Given the description of an element on the screen output the (x, y) to click on. 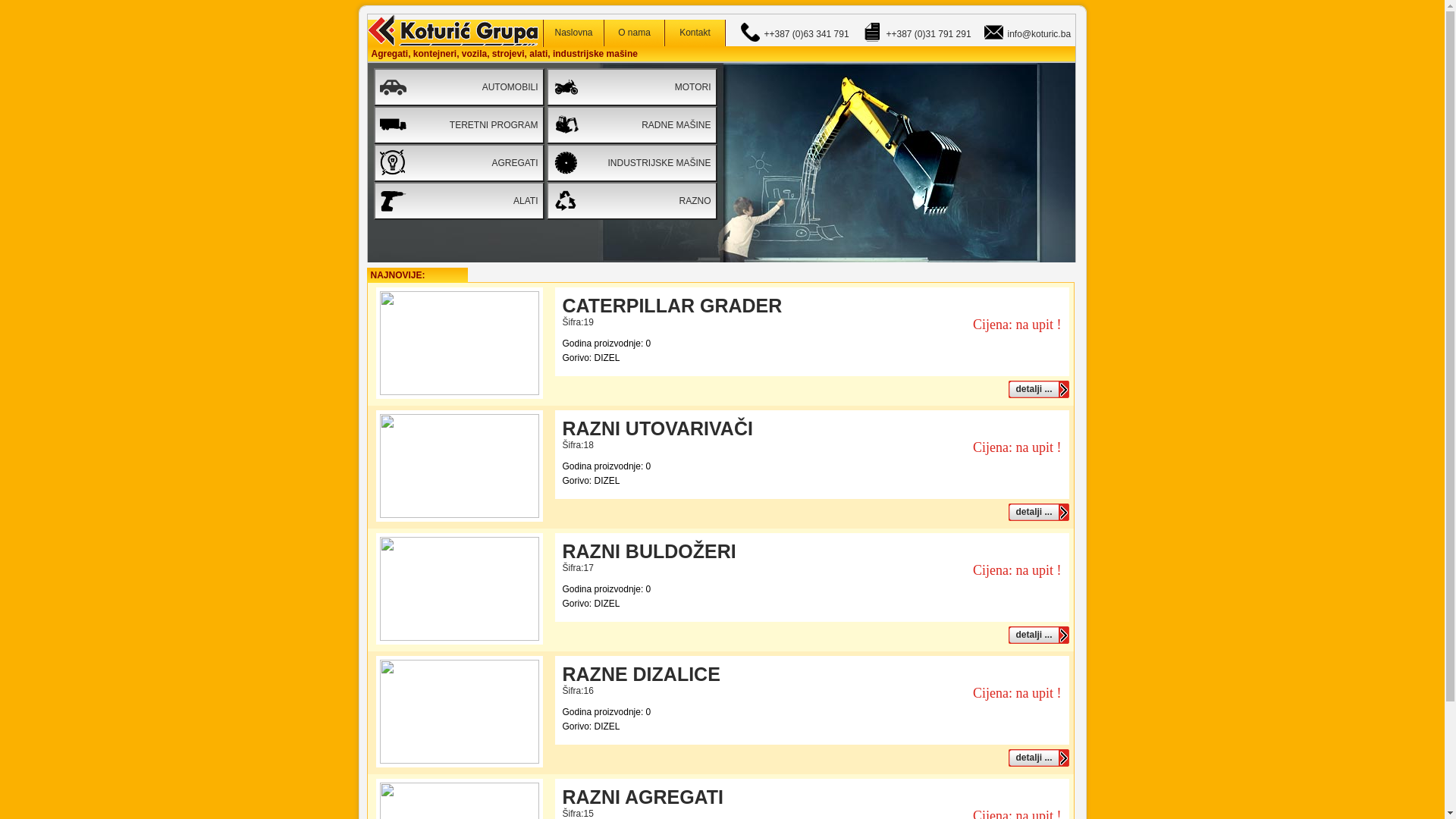
Kontakt Element type: text (694, 32)
AGREGATI Element type: text (458, 163)
detalji ... Element type: text (1038, 512)
RAZNO Element type: text (631, 200)
Naslovna Element type: text (572, 32)
TERETNI PROGRAM Element type: text (458, 125)
detalji ... Element type: text (1038, 635)
AUTOMOBILI Element type: text (458, 87)
O nama Element type: text (633, 32)
MOTORI Element type: text (631, 87)
detalji ... Element type: text (1038, 389)
detalji ... Element type: text (1038, 758)
ALATI Element type: text (458, 200)
